Given the description of an element on the screen output the (x, y) to click on. 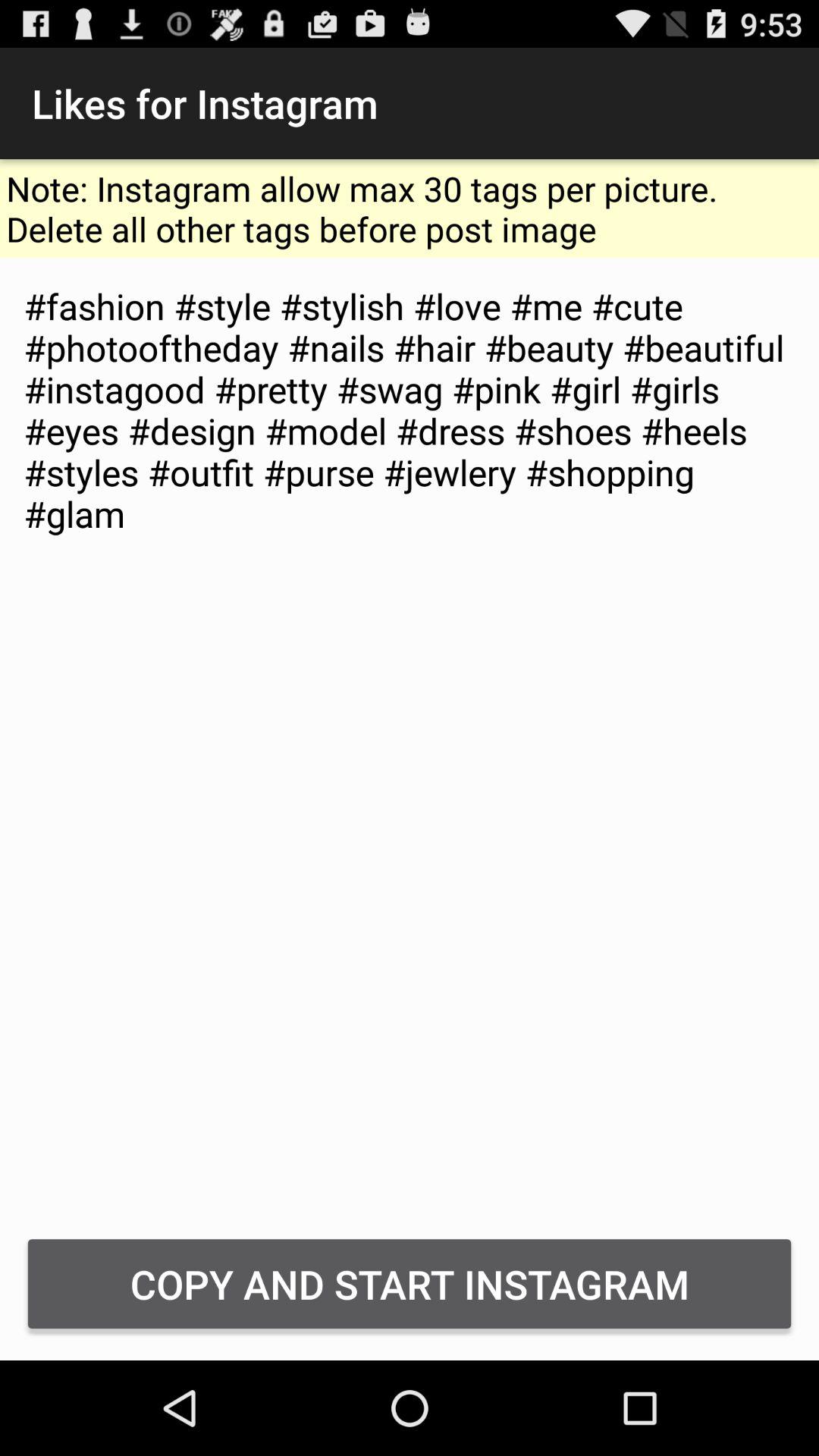
turn on item at the bottom (409, 1283)
